Given the description of an element on the screen output the (x, y) to click on. 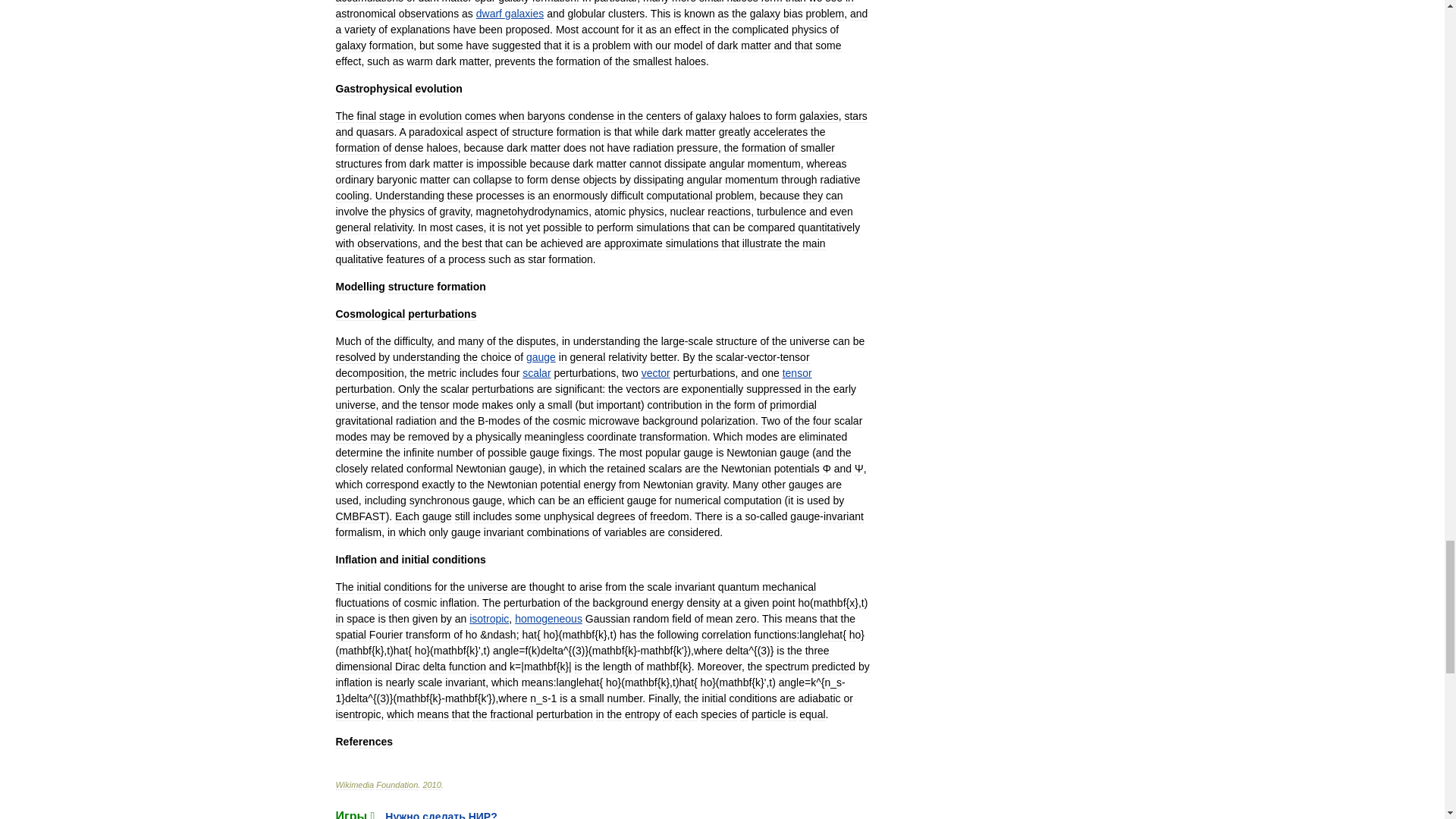
scalar (536, 372)
vector (655, 372)
gauge (540, 357)
dwarf galaxies (510, 13)
